Given the description of an element on the screen output the (x, y) to click on. 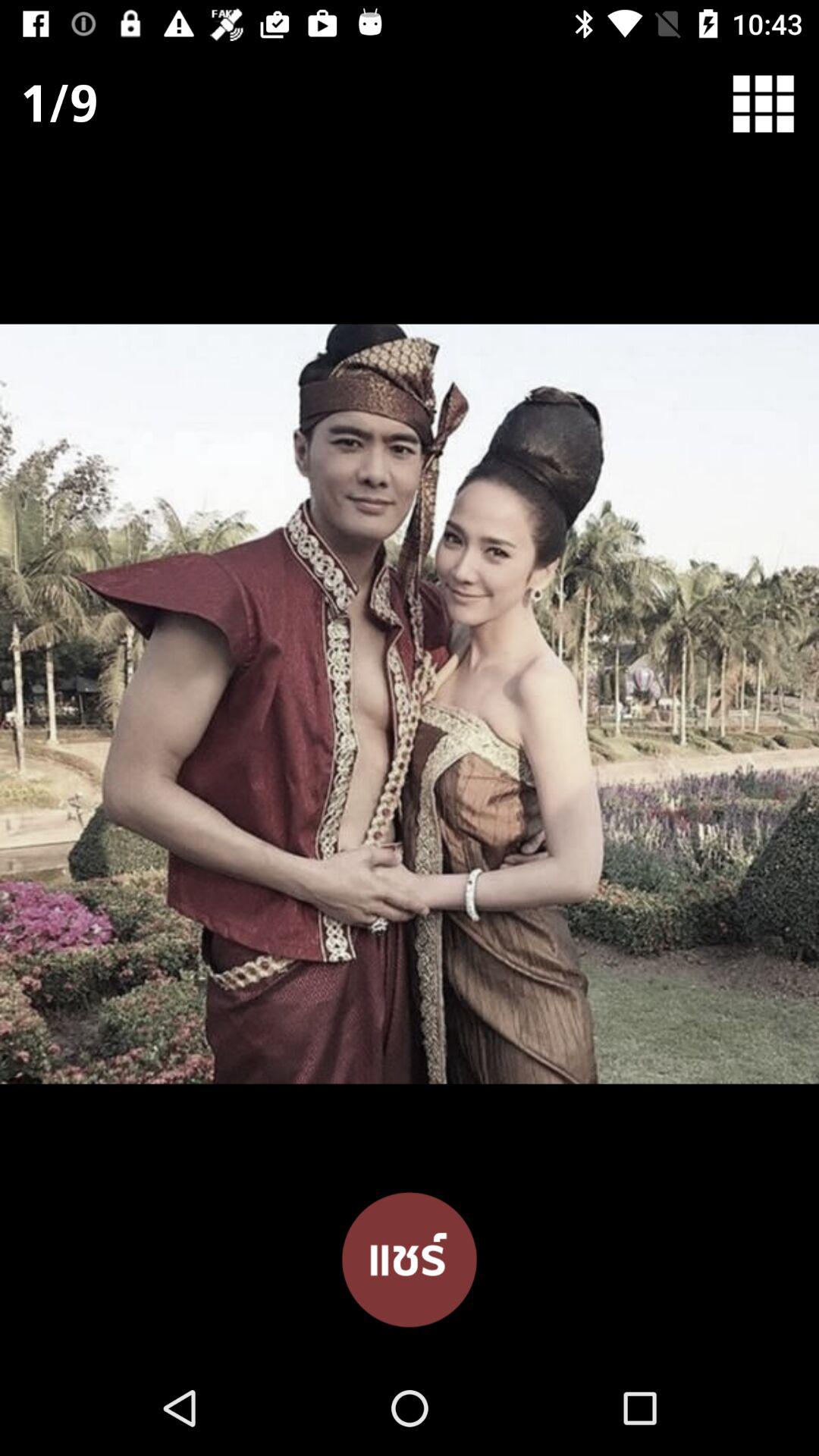
turn off the item to the right of the /9 (773, 103)
